Given the description of an element on the screen output the (x, y) to click on. 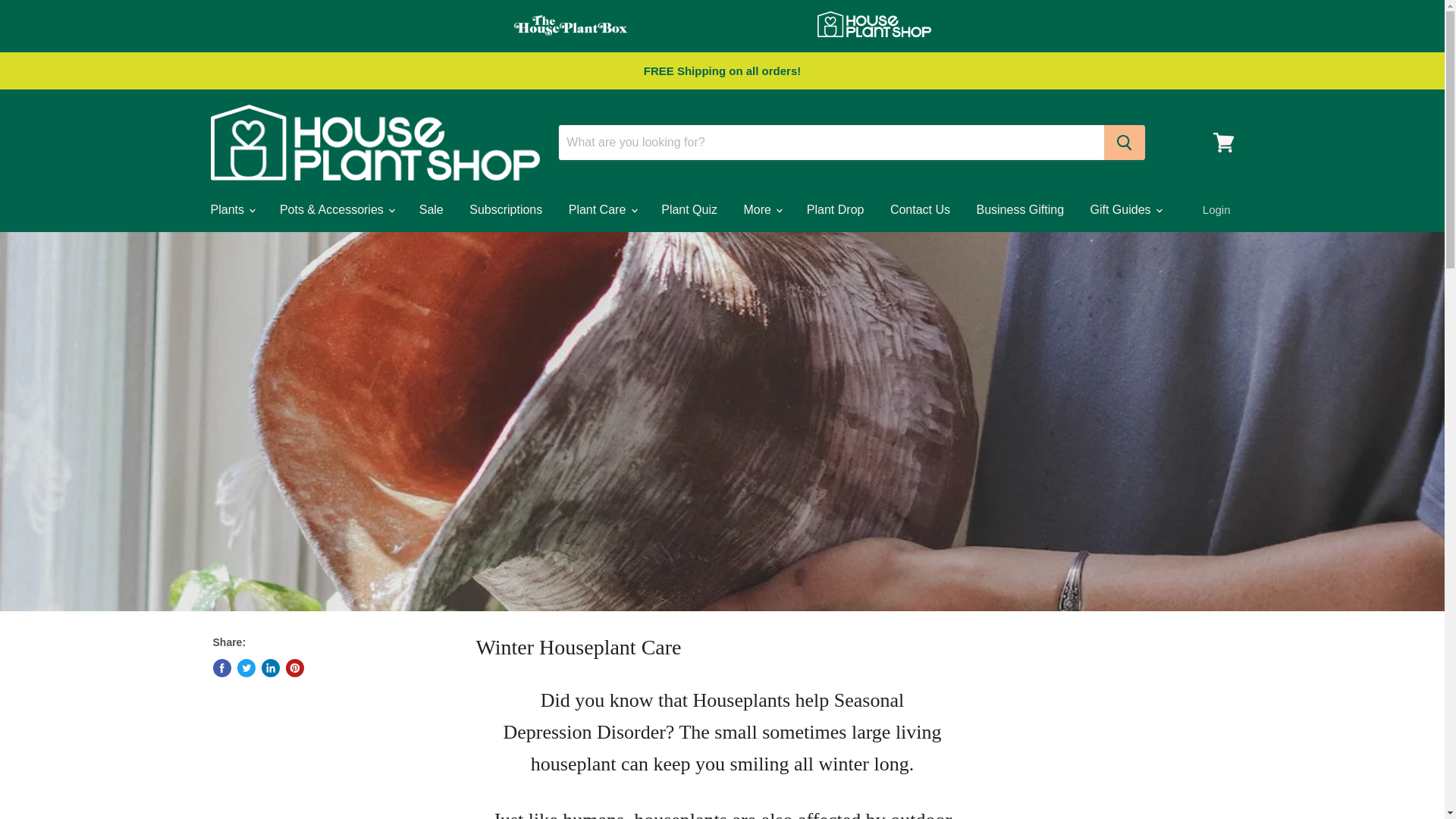
Plants (231, 210)
Sale (430, 210)
View cart (1223, 142)
Subscriptions (505, 210)
Plant Care (601, 210)
